Given the description of an element on the screen output the (x, y) to click on. 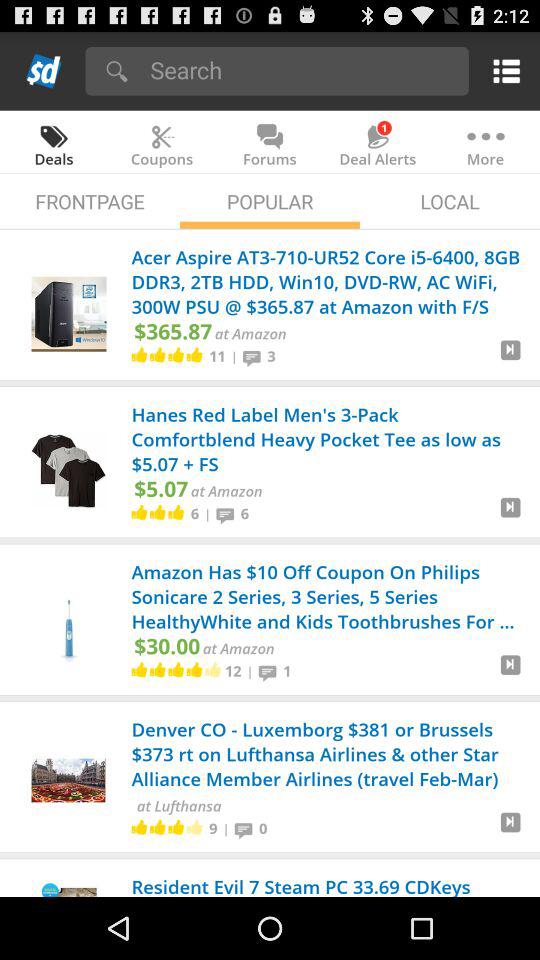
search box (302, 69)
